Given the description of an element on the screen output the (x, y) to click on. 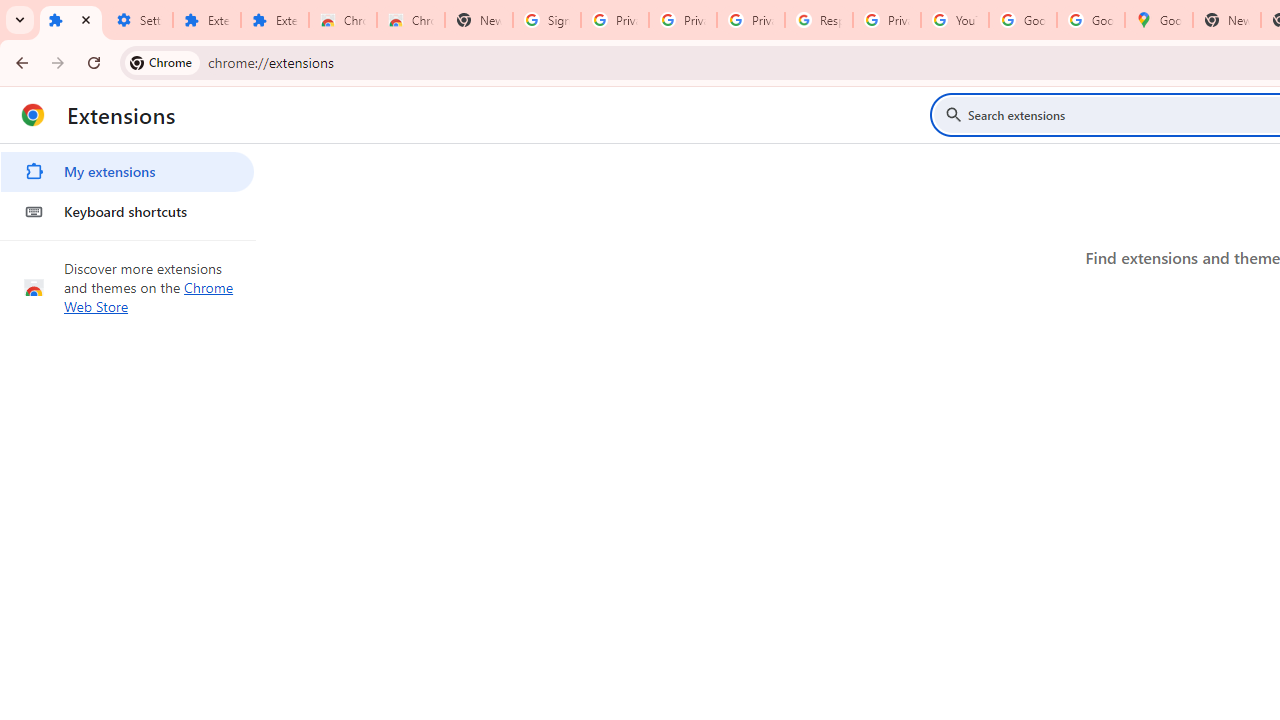
YouTube (954, 20)
Chrome Web Store (149, 296)
New Tab (1226, 20)
New Tab (479, 20)
Google Maps (1158, 20)
Extensions (70, 20)
AutomationID: sectionMenu (128, 187)
